Given the description of an element on the screen output the (x, y) to click on. 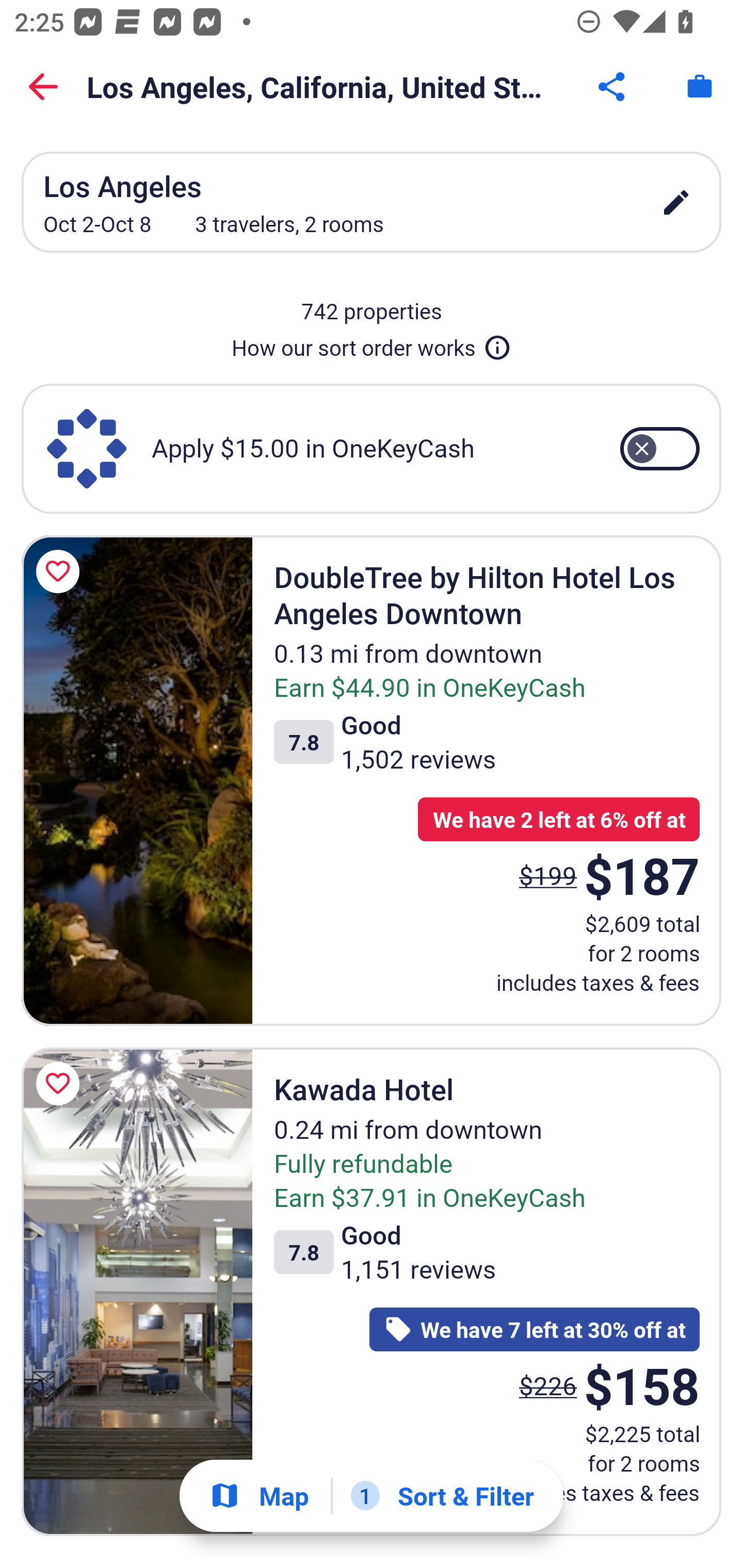
Back (43, 86)
Share Button (612, 86)
Trips. Button (699, 86)
Los Angeles Oct 2-Oct 8 3 travelers, 2 rooms edit (371, 202)
How our sort order works (371, 344)
DoubleTree by Hilton Hotel Los Angeles Downtown (136, 779)
$199 The price was $199 (547, 875)
Save Kawada Hotel to a trip (61, 1083)
Kawada Hotel (136, 1291)
$226 The price was $226 (547, 1385)
1 Sort & Filter 1 Filter applied. Filters Button (442, 1495)
Show map Map Show map Button (258, 1495)
